Given the description of an element on the screen output the (x, y) to click on. 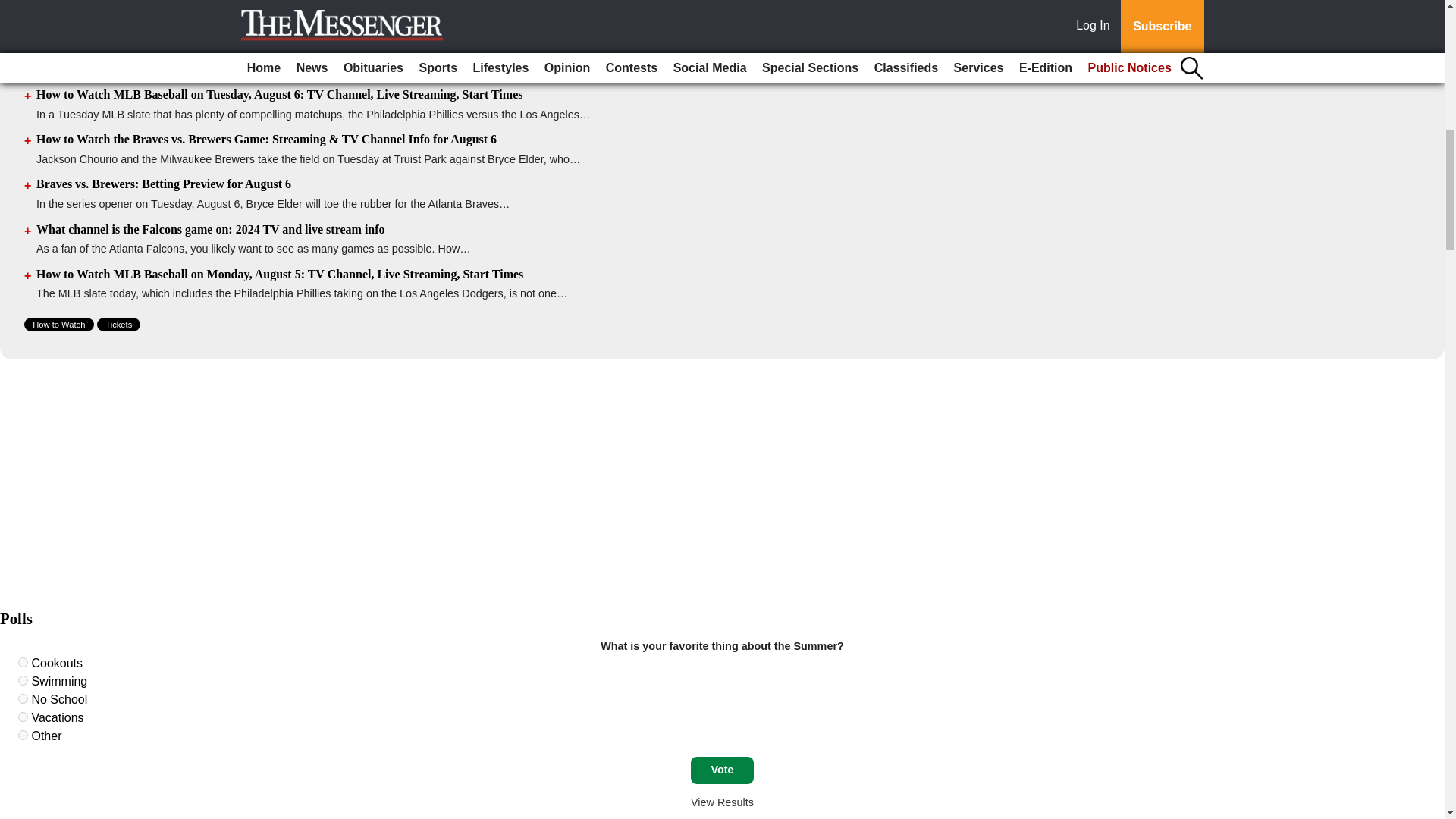
7277 (22, 716)
7275 (22, 680)
7276 (22, 698)
   Vote    (722, 769)
View Results Of This Poll (722, 802)
7278 (22, 735)
7274 (22, 662)
